Given the description of an element on the screen output the (x, y) to click on. 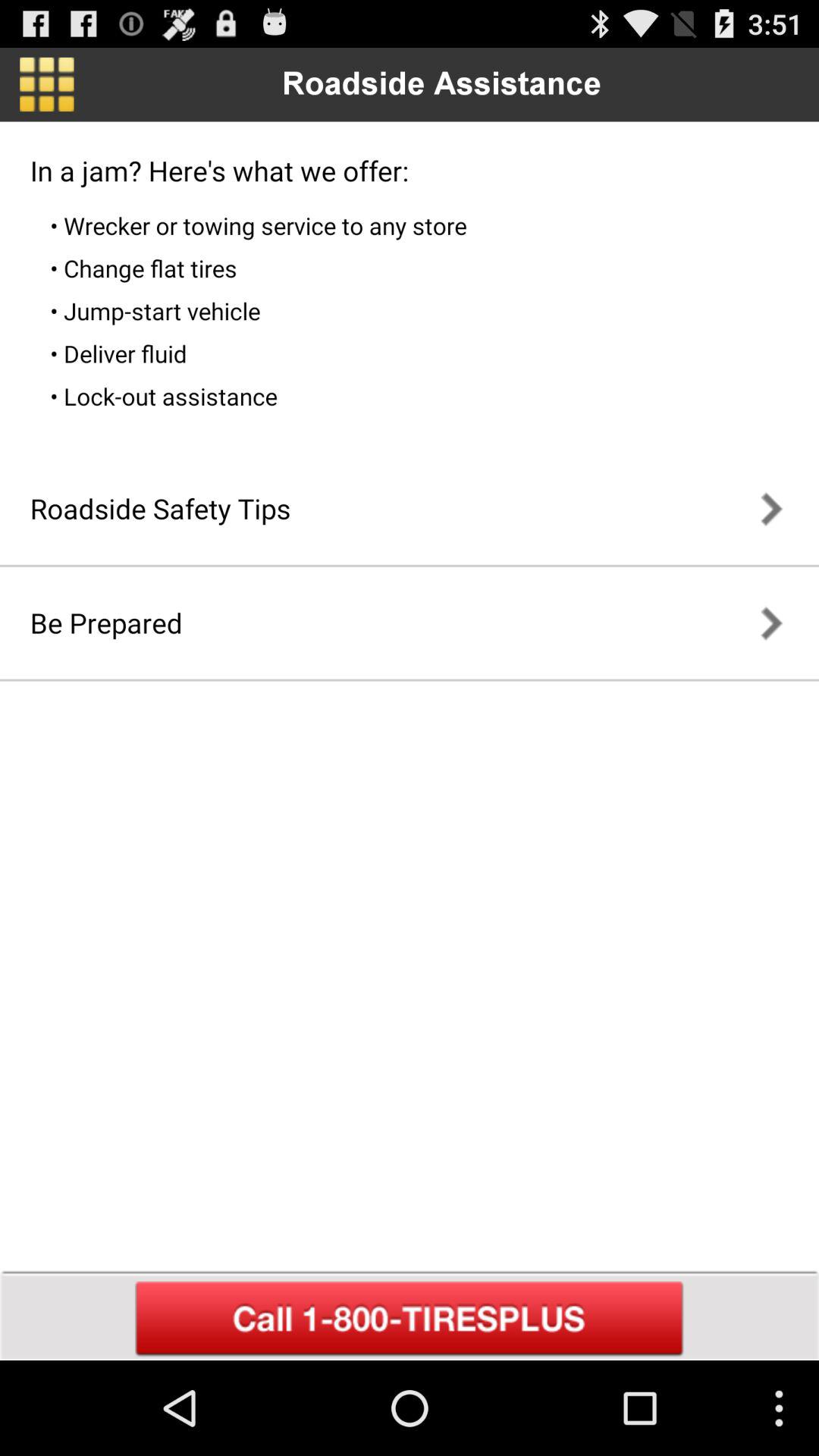
open the item to the left of roadside assistance icon (46, 84)
